Given the description of an element on the screen output the (x, y) to click on. 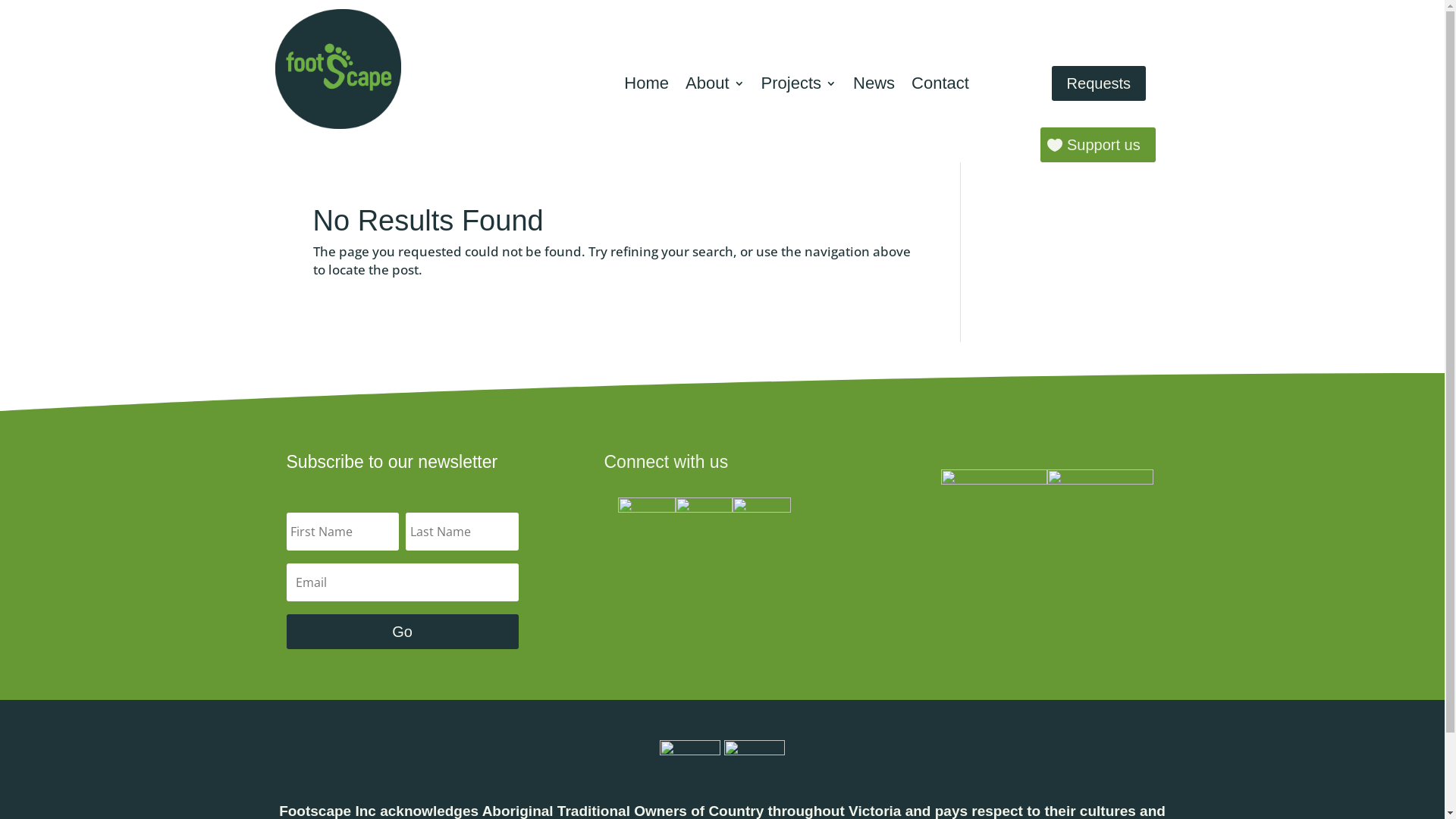
Contact Element type: text (940, 90)
News Element type: text (873, 90)
Projects Element type: text (798, 90)
About Element type: text (714, 90)
Fottscape-logo-dark-circle Element type: hover (338, 68)
Support us Element type: text (1097, 144)
Go Element type: text (402, 631)
Requests Element type: text (1098, 82)
Home Element type: text (646, 90)
